Given the description of an element on the screen output the (x, y) to click on. 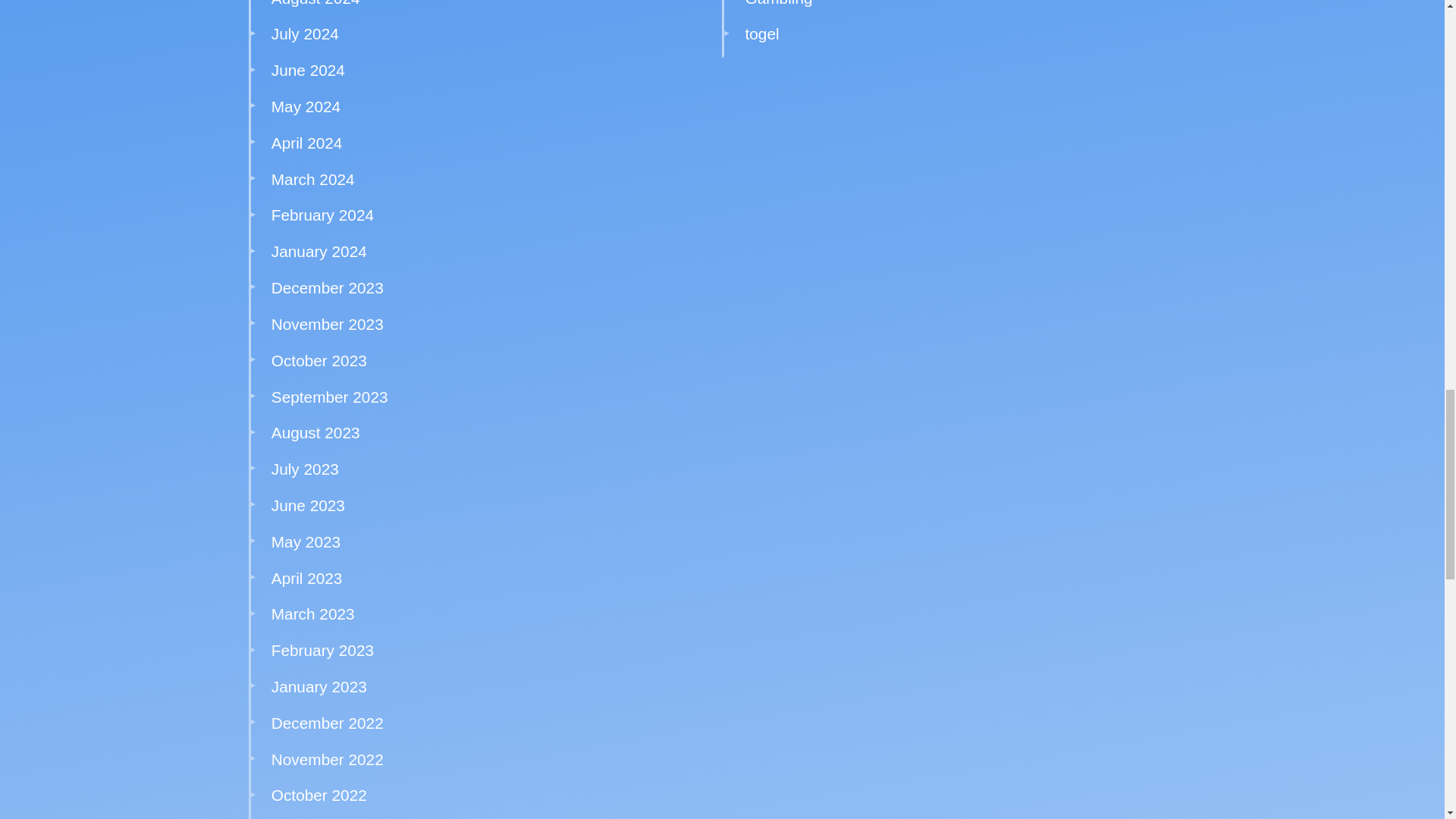
January 2024 (318, 251)
June 2024 (307, 69)
January 2023 (318, 686)
July 2024 (304, 33)
August 2023 (314, 432)
December 2023 (327, 287)
April 2023 (306, 578)
May 2024 (305, 106)
February 2023 (322, 650)
October 2023 (318, 360)
July 2023 (304, 468)
August 2024 (314, 3)
June 2023 (307, 505)
October 2022 (318, 794)
November 2022 (327, 759)
